Given the description of an element on the screen output the (x, y) to click on. 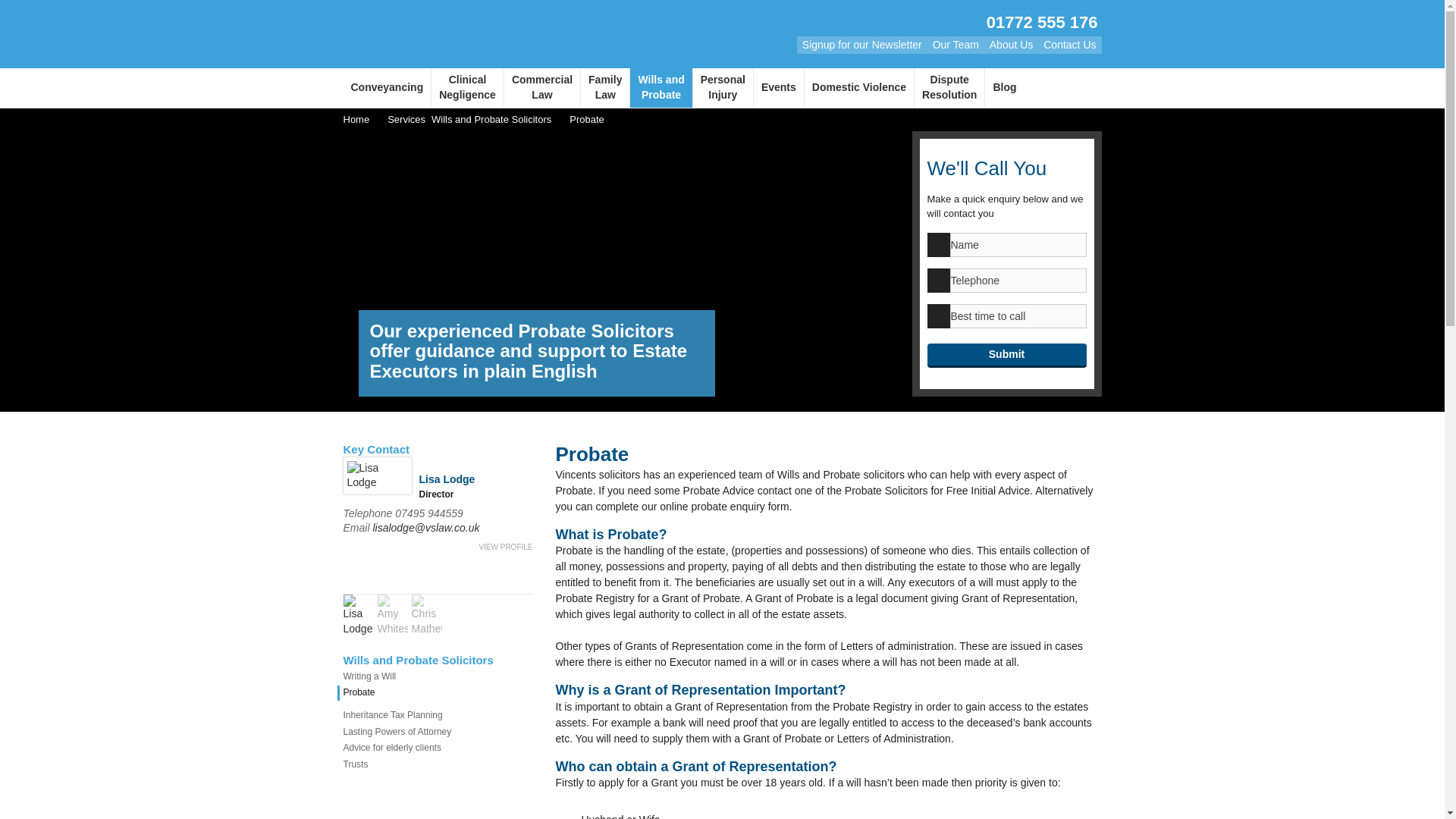
Our Team (955, 44)
Telephone (1017, 280)
Name (541, 87)
Conveyancing (1017, 244)
Contact Us (386, 87)
Signup for our Newsletter (466, 87)
About Us (1069, 44)
Best time to call (604, 87)
